Given the description of an element on the screen output the (x, y) to click on. 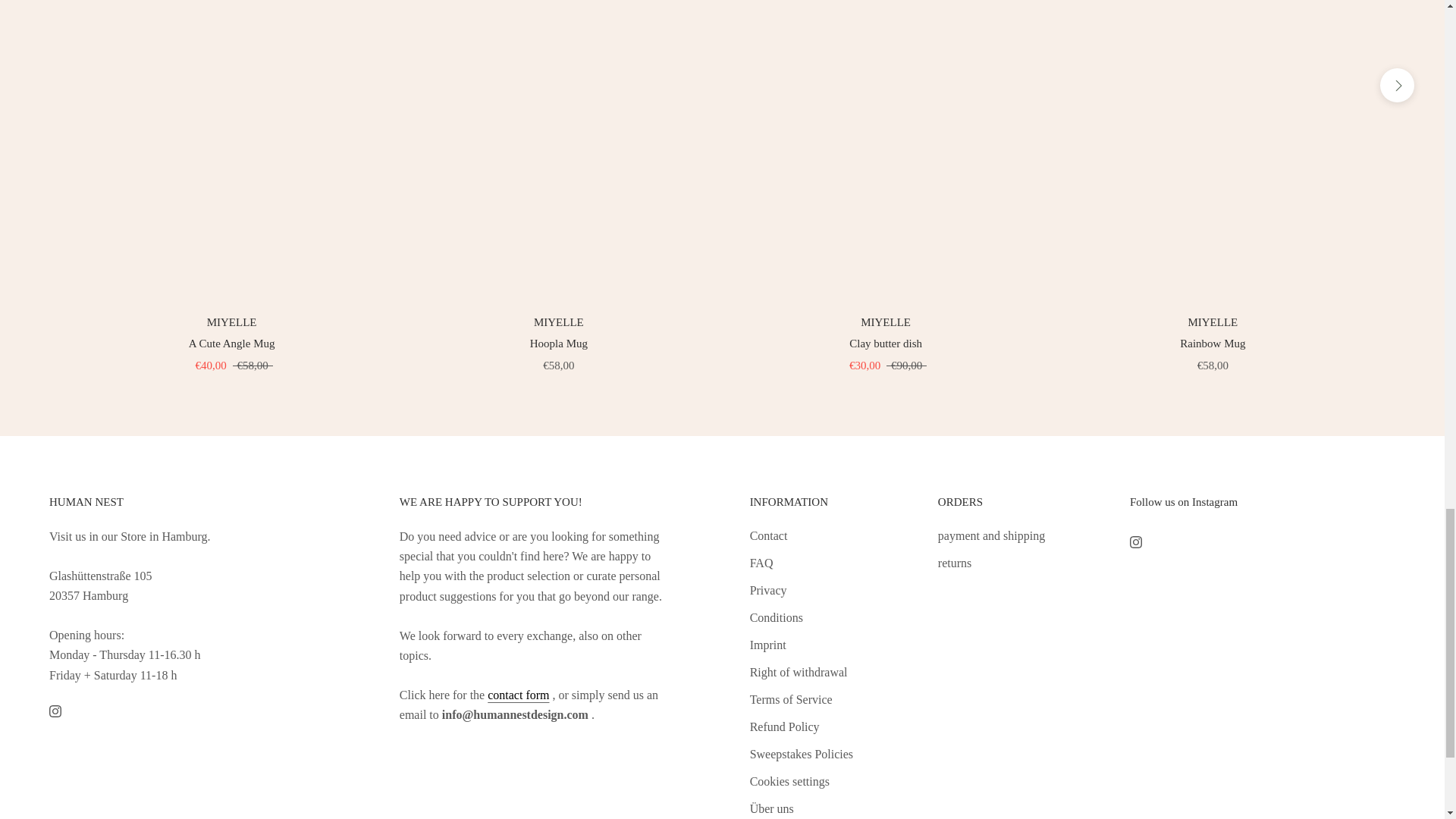
Contact (517, 694)
